Given the description of an element on the screen output the (x, y) to click on. 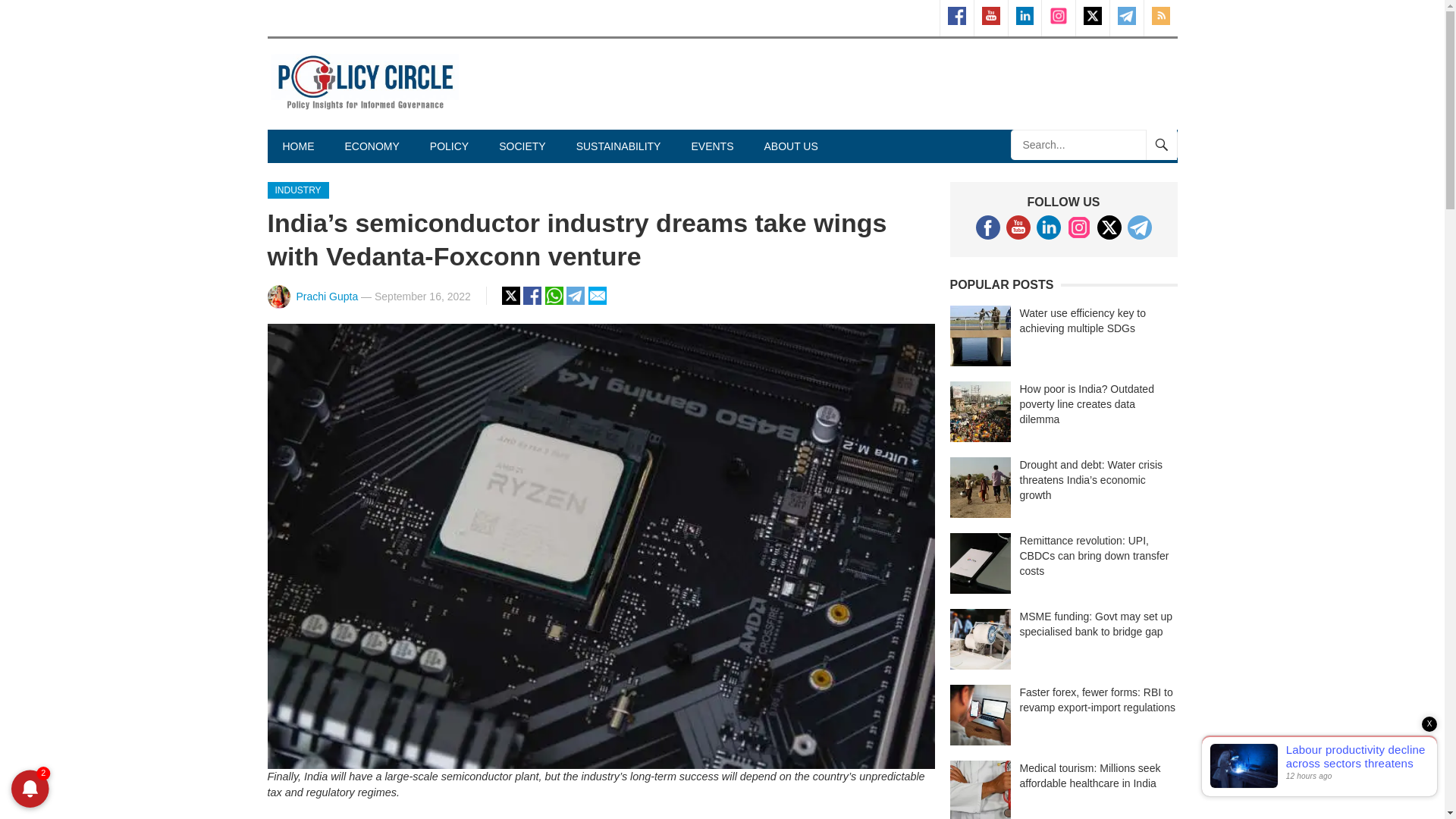
Prachi Gupta (326, 296)
ABOUT US (790, 145)
SOCIETY (521, 145)
INDUSTRY (297, 190)
POLICY (448, 145)
ECONOMY (371, 145)
View all posts in Industry (297, 190)
SUSTAINABILITY (618, 145)
HOME (297, 145)
EVENTS (711, 145)
